Given the description of an element on the screen output the (x, y) to click on. 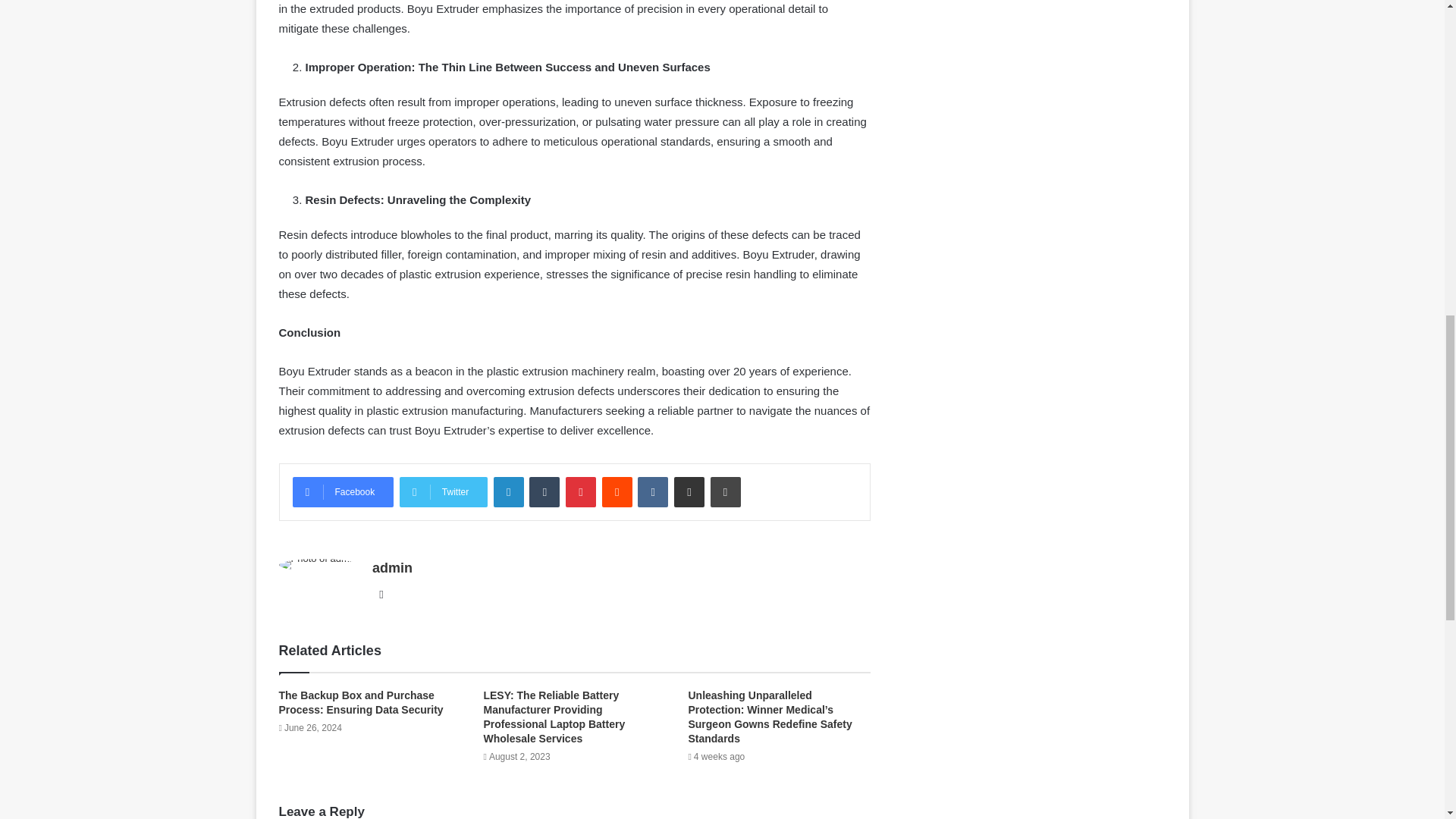
The Backup Box and Purchase Process: Ensuring Data Security (361, 702)
Twitter (442, 491)
Print (725, 491)
VKontakte (652, 491)
Website (381, 594)
Reddit (616, 491)
Share via Email (689, 491)
Pinterest (580, 491)
Twitter (442, 491)
VKontakte (652, 491)
